Given the description of an element on the screen output the (x, y) to click on. 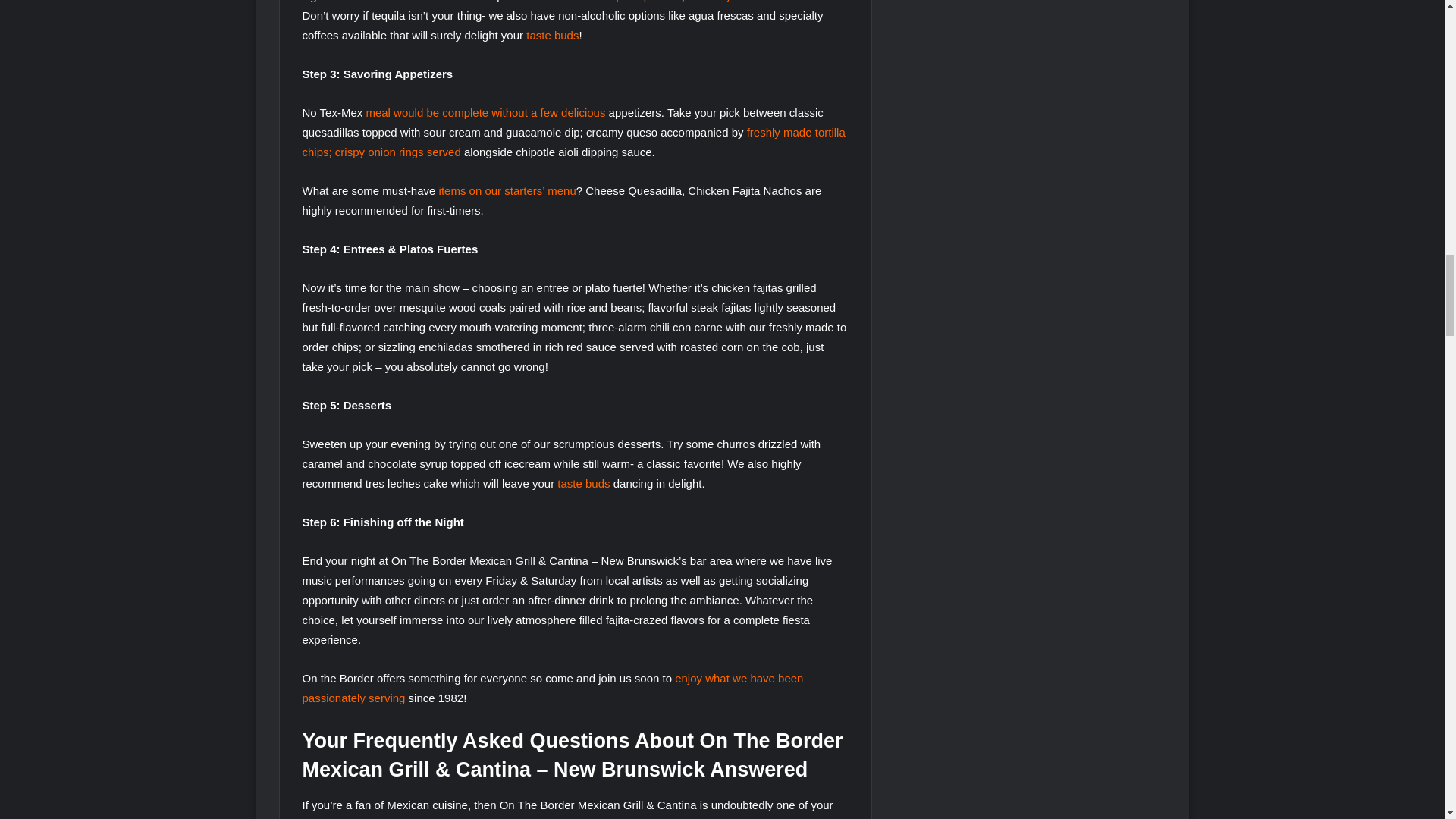
perfectly with any dish (699, 1)
freshly made tortilla chips; crispy onion rings served (572, 142)
taste buds (551, 34)
meal would be complete without a few delicious (485, 112)
